Given the description of an element on the screen output the (x, y) to click on. 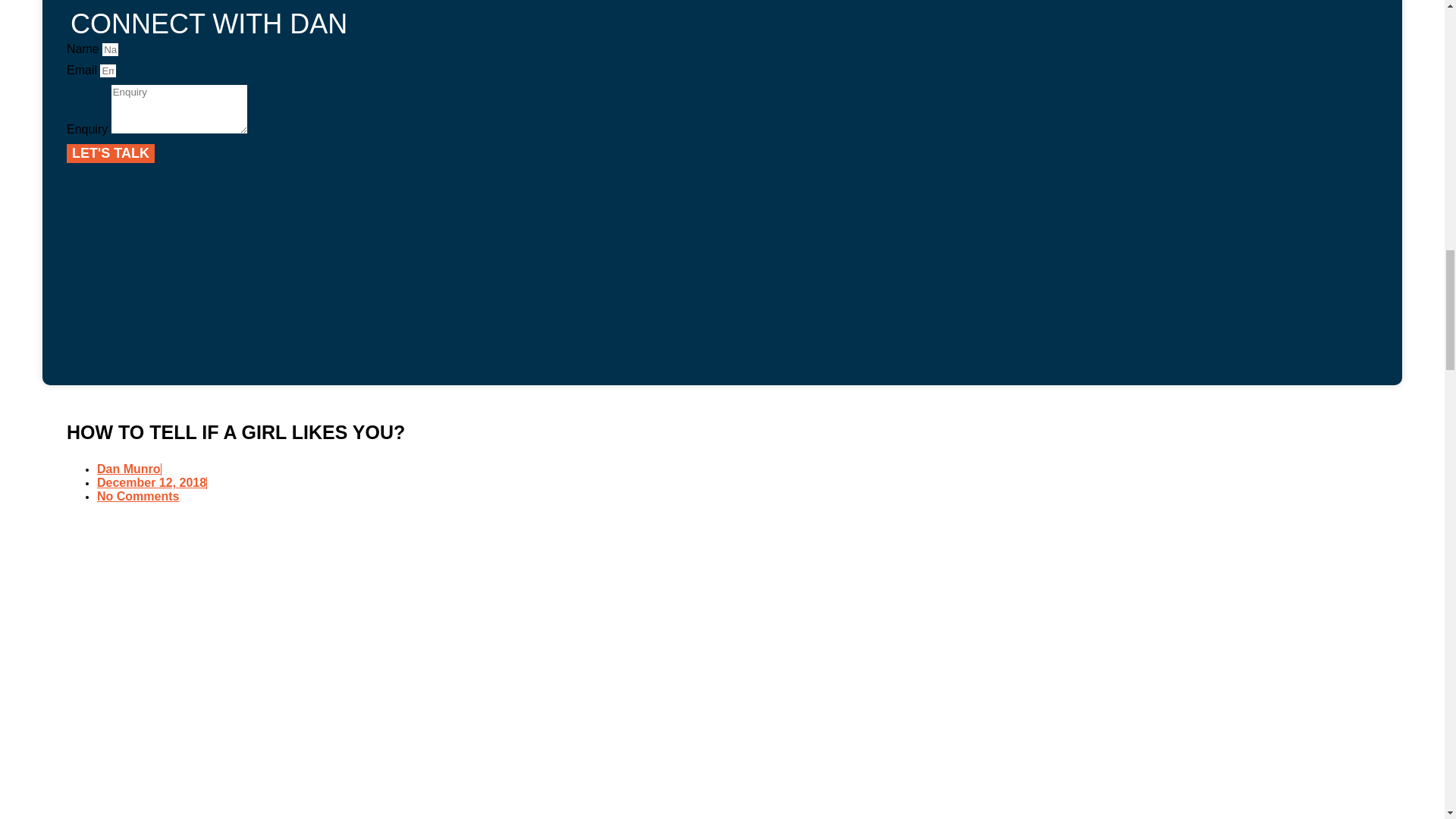
December 12, 2018 (151, 481)
How to tell if a girl likes you? (308, 654)
LET'S TALK (110, 153)
Dan Munro (128, 468)
No Comments (138, 495)
